Given the description of an element on the screen output the (x, y) to click on. 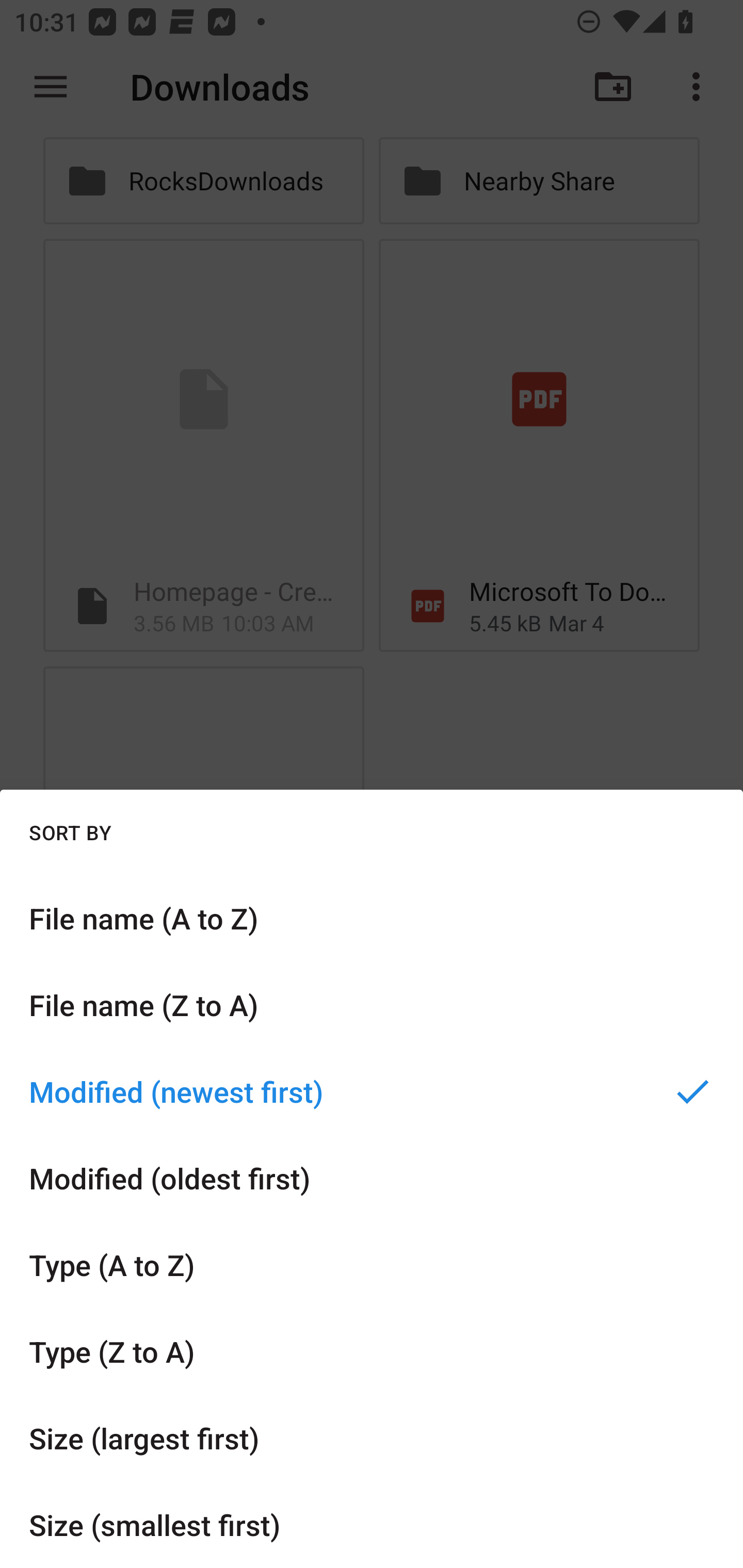
File name (A to Z) (371, 917)
File name (Z to A) (371, 1004)
Modified (newest first) (371, 1091)
Modified (oldest first) (371, 1178)
Type (A to Z) (371, 1264)
Type (Z to A) (371, 1350)
Size (largest first) (371, 1437)
Size (smallest first) (371, 1524)
